Given the description of an element on the screen output the (x, y) to click on. 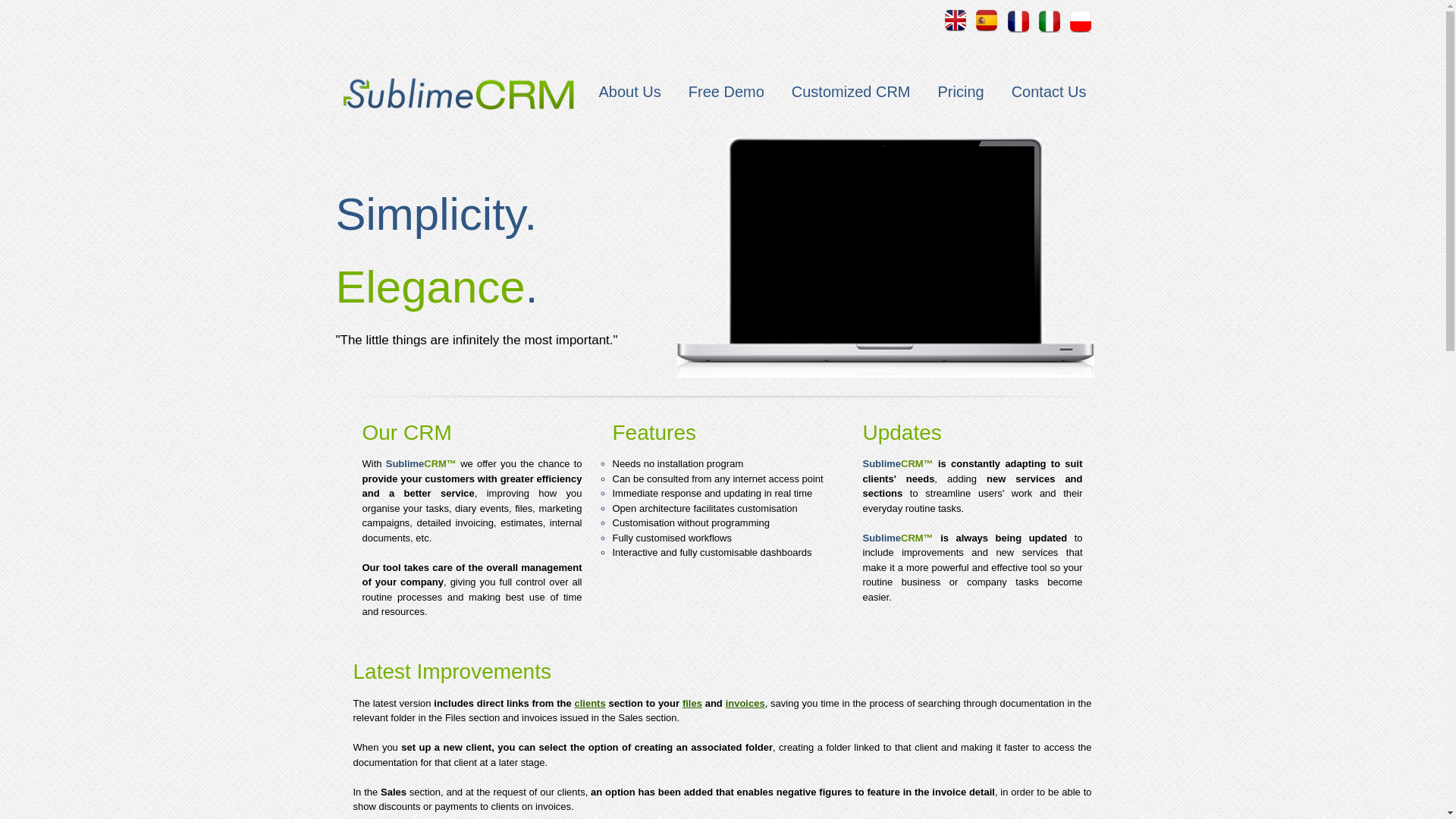
Contact Us (1048, 91)
invoices (745, 703)
Customized CRM (850, 91)
Sublime Customer Relationship Management (457, 87)
English (956, 20)
French (1018, 20)
About Us (628, 91)
Italian (1049, 20)
clients (590, 703)
Polish (1080, 20)
Pricing (960, 91)
Free Demo (726, 91)
Spanish (986, 20)
files (691, 703)
